Given the description of an element on the screen output the (x, y) to click on. 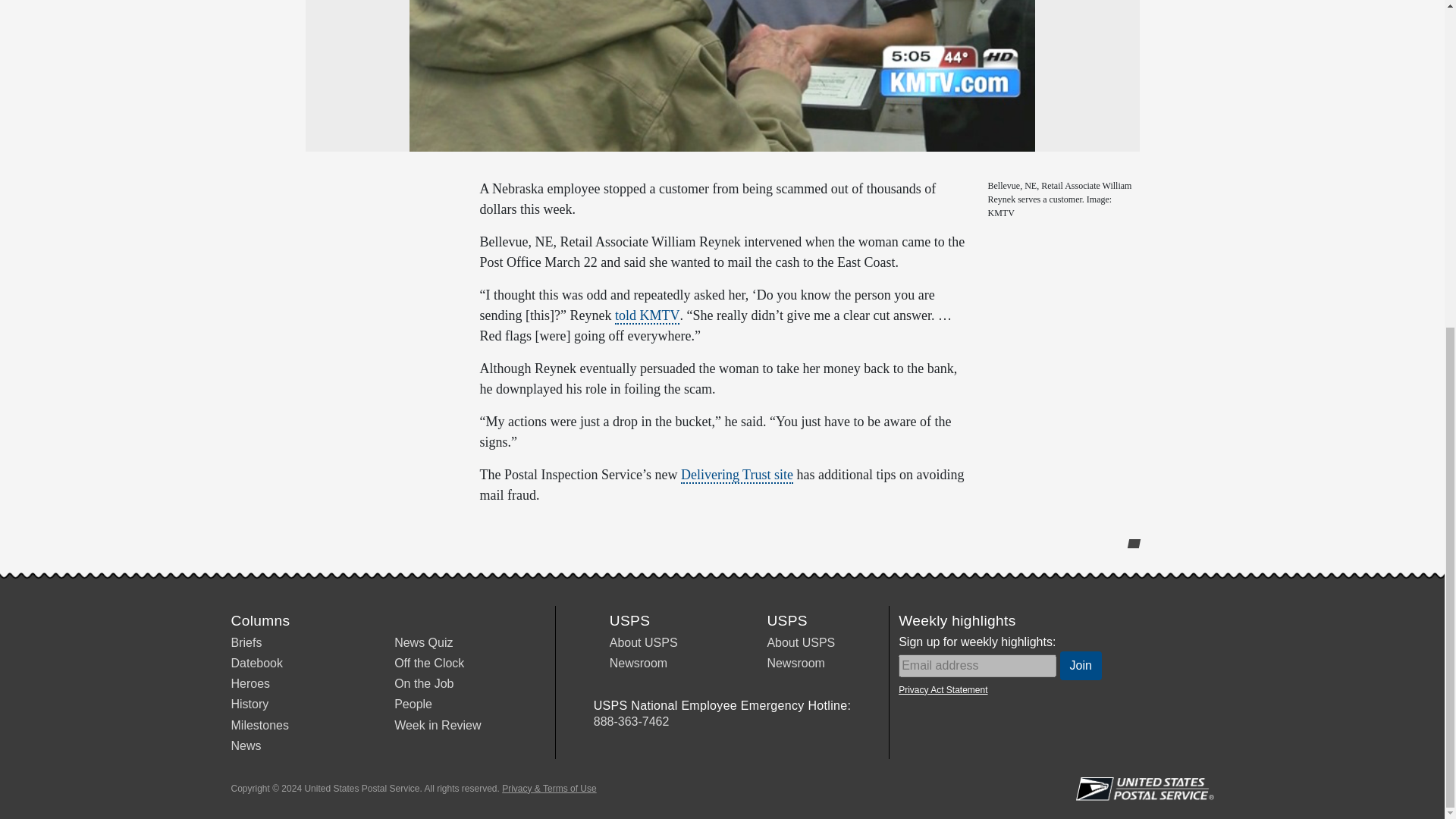
Datebook (256, 662)
Join (1080, 665)
News Quiz (423, 642)
Briefs (246, 642)
Delivering Trust site (737, 475)
Newsroom (795, 662)
About USPS (644, 642)
told KMTV (646, 315)
About USPS (800, 642)
Heroes (249, 683)
History (248, 703)
Off the Clock (429, 662)
On the Job (423, 683)
Milestones (259, 725)
Newsroom (638, 662)
